Given the description of an element on the screen output the (x, y) to click on. 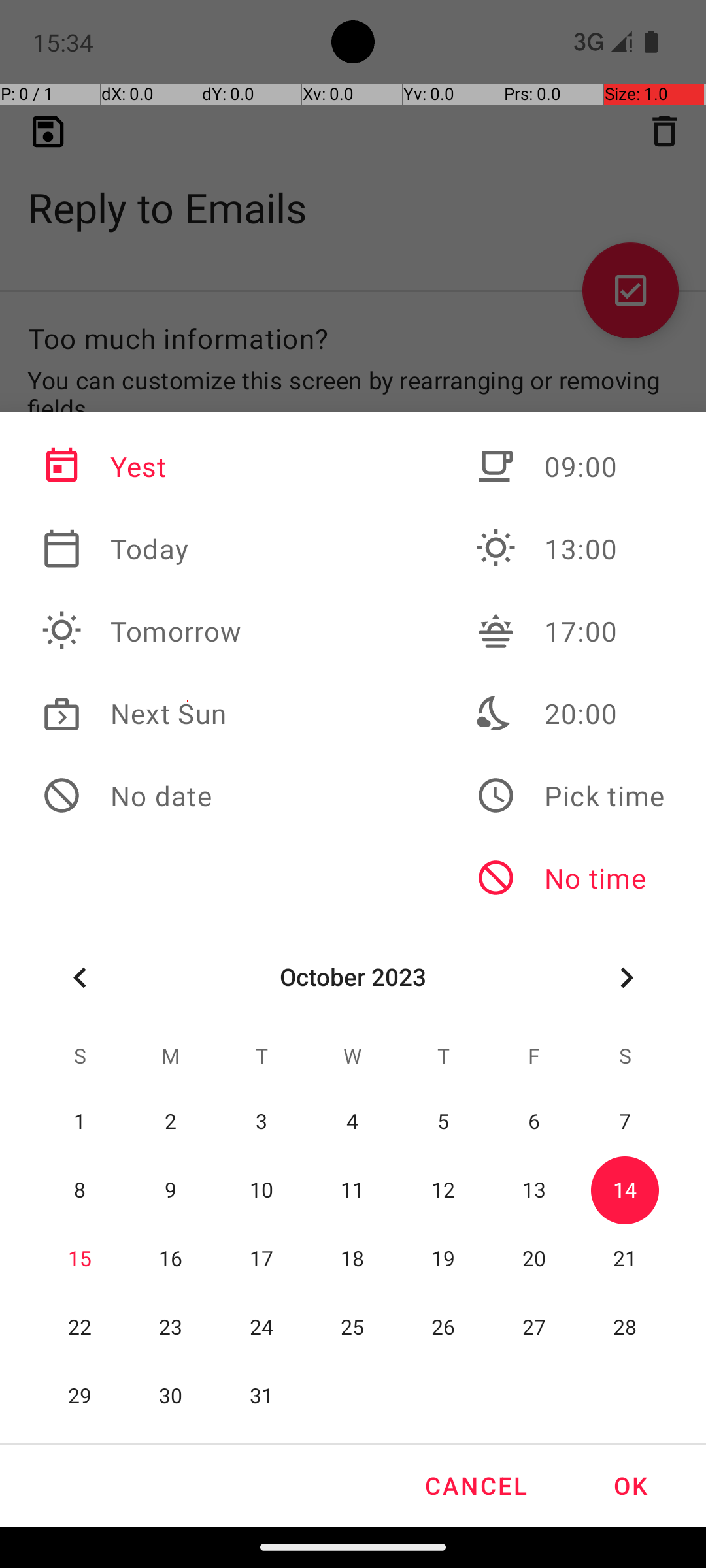
Yest Element type: android.widget.CompoundButton (141, 466)
